Given the description of an element on the screen output the (x, y) to click on. 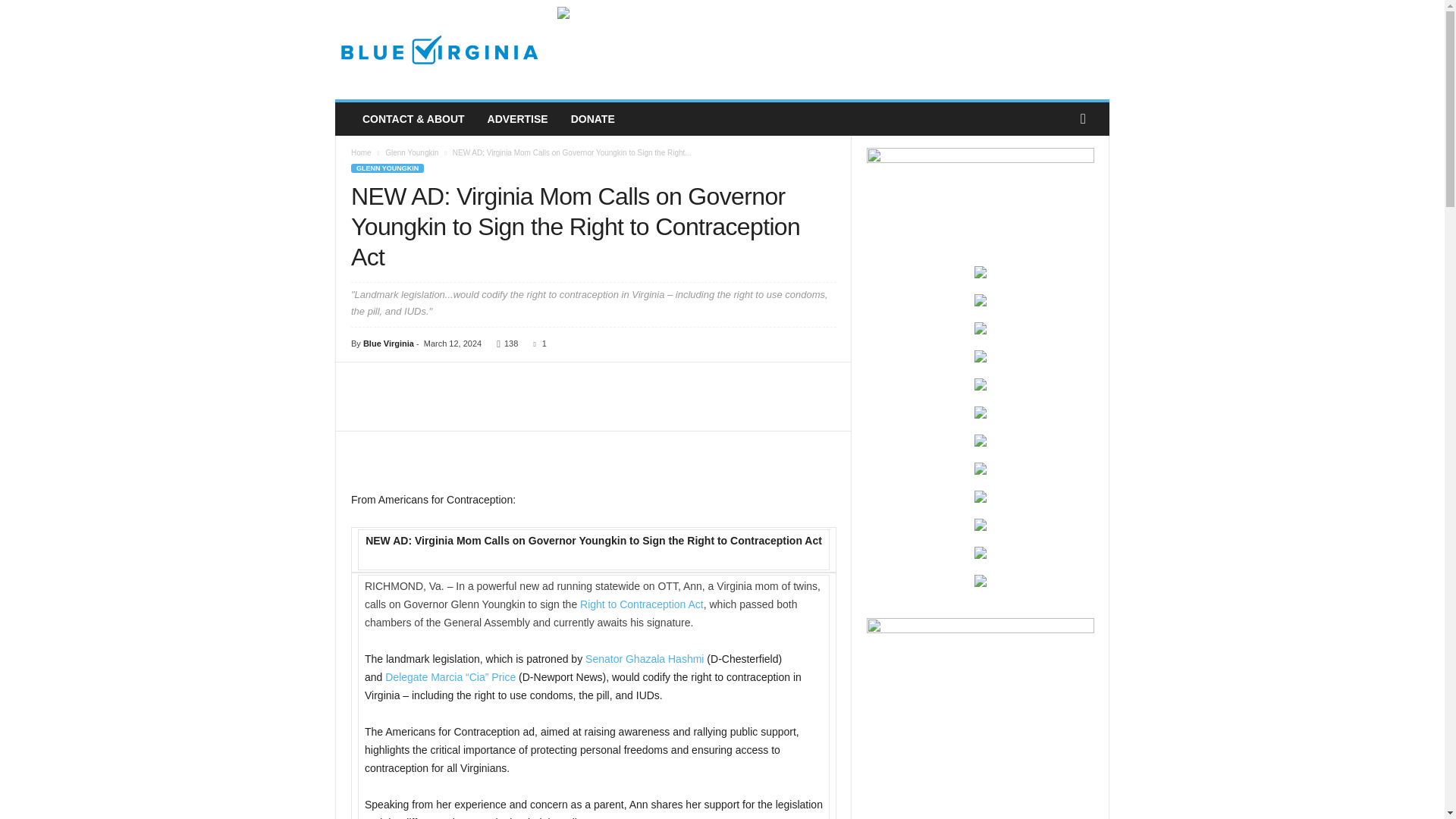
1 (536, 343)
ADVERTISE (517, 118)
Blue Virginia (437, 49)
Glenn Youngkin (411, 152)
Senator Ghazala Hashmi (644, 658)
DONATE (592, 118)
View all posts in Glenn Youngkin (411, 152)
Blue Virginia (387, 343)
Right to Contraception Act (641, 604)
Home (360, 152)
